Given the description of an element on the screen output the (x, y) to click on. 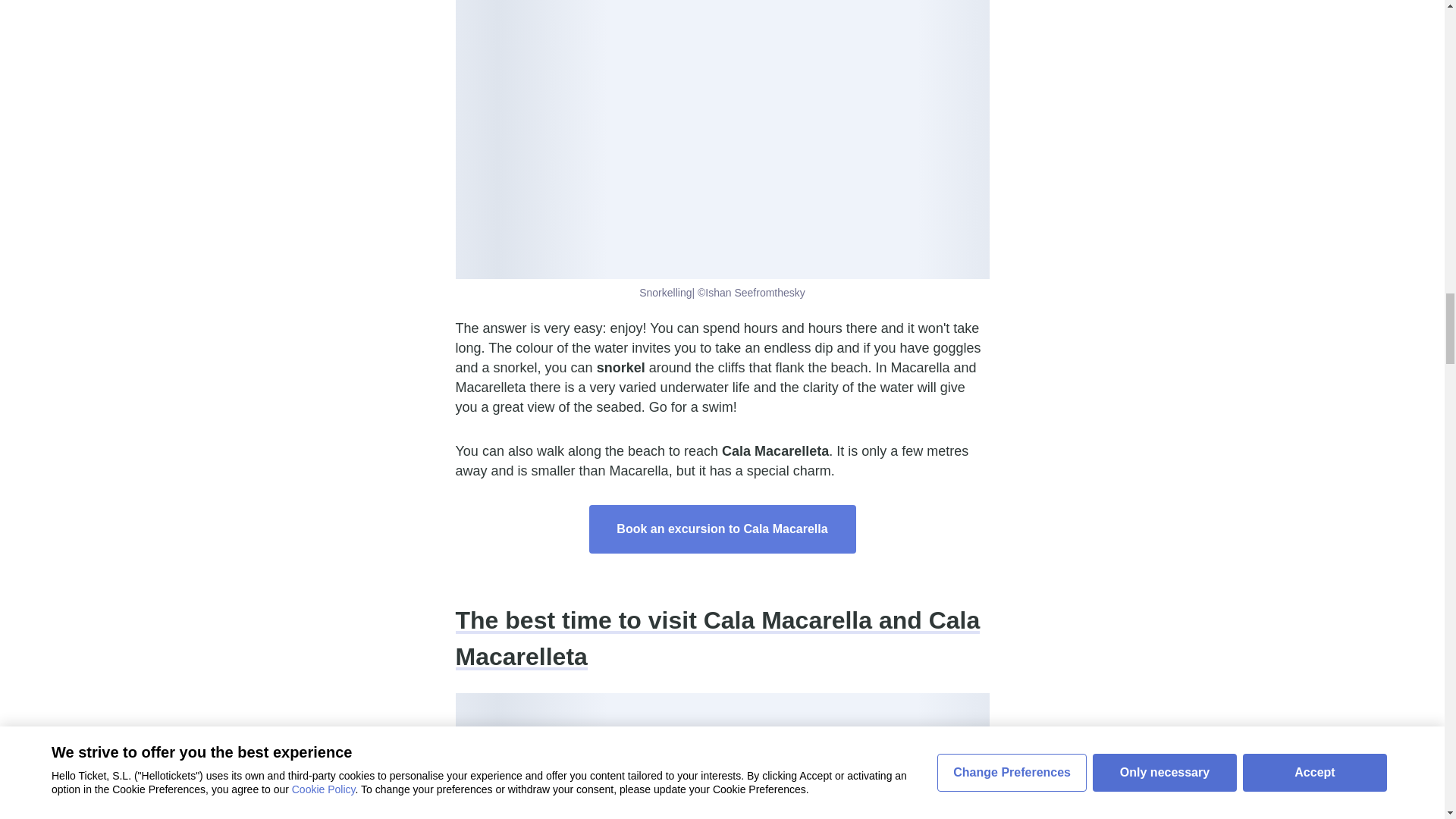
Book an excursion to Cala Macarella (722, 529)
